Given the description of an element on the screen output the (x, y) to click on. 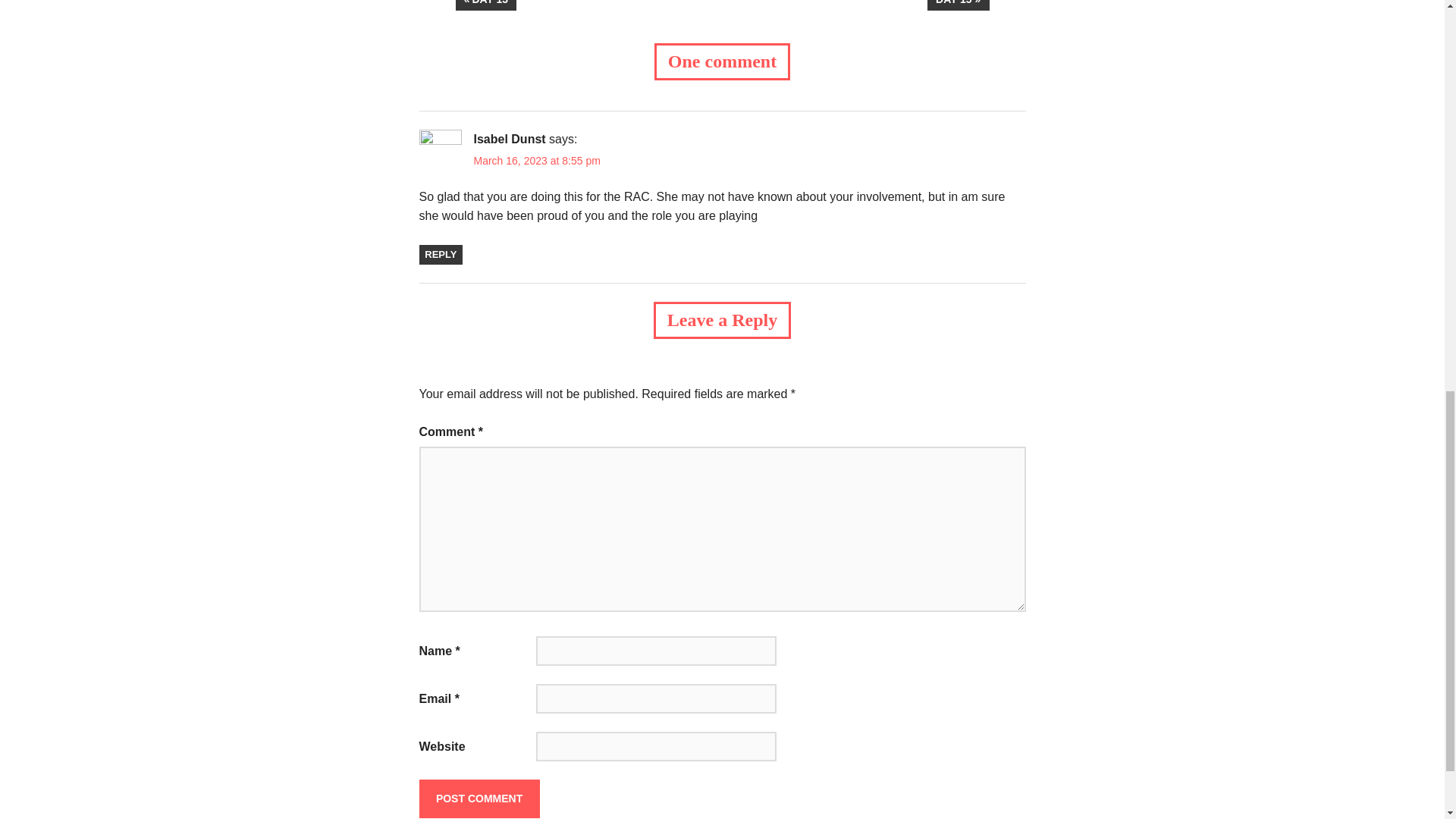
Post Comment (478, 798)
Post Comment (958, 5)
March 16, 2023 at 8:55 pm (478, 798)
REPLY (536, 160)
